Given the description of an element on the screen output the (x, y) to click on. 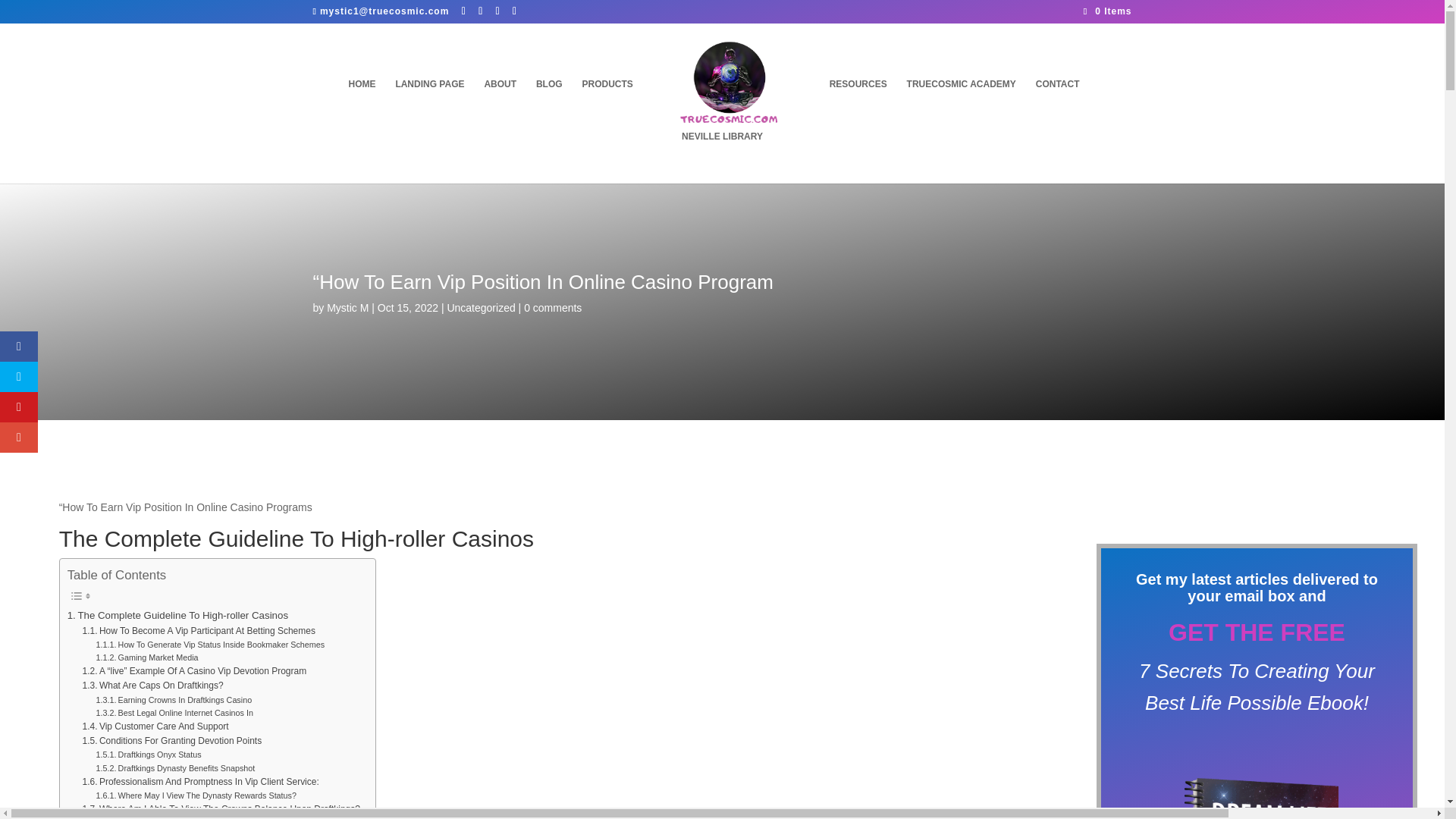
How To Become A Vip Participant At Betting Schemes (198, 631)
LOA (724, 108)
How To Generate Vip Status Inside Bookmaker Schemes (210, 644)
NEVILLE LIBRARY (721, 157)
What Are Caps On Draftkings? (153, 685)
The Complete Guideline To High-roller Casinos (177, 615)
Draftkings Onyx Status (149, 754)
Mystic M (347, 307)
Best Legal Online Internet Casinos In (174, 712)
SPANISH BLOGS (940, 108)
